Given the description of an element on the screen output the (x, y) to click on. 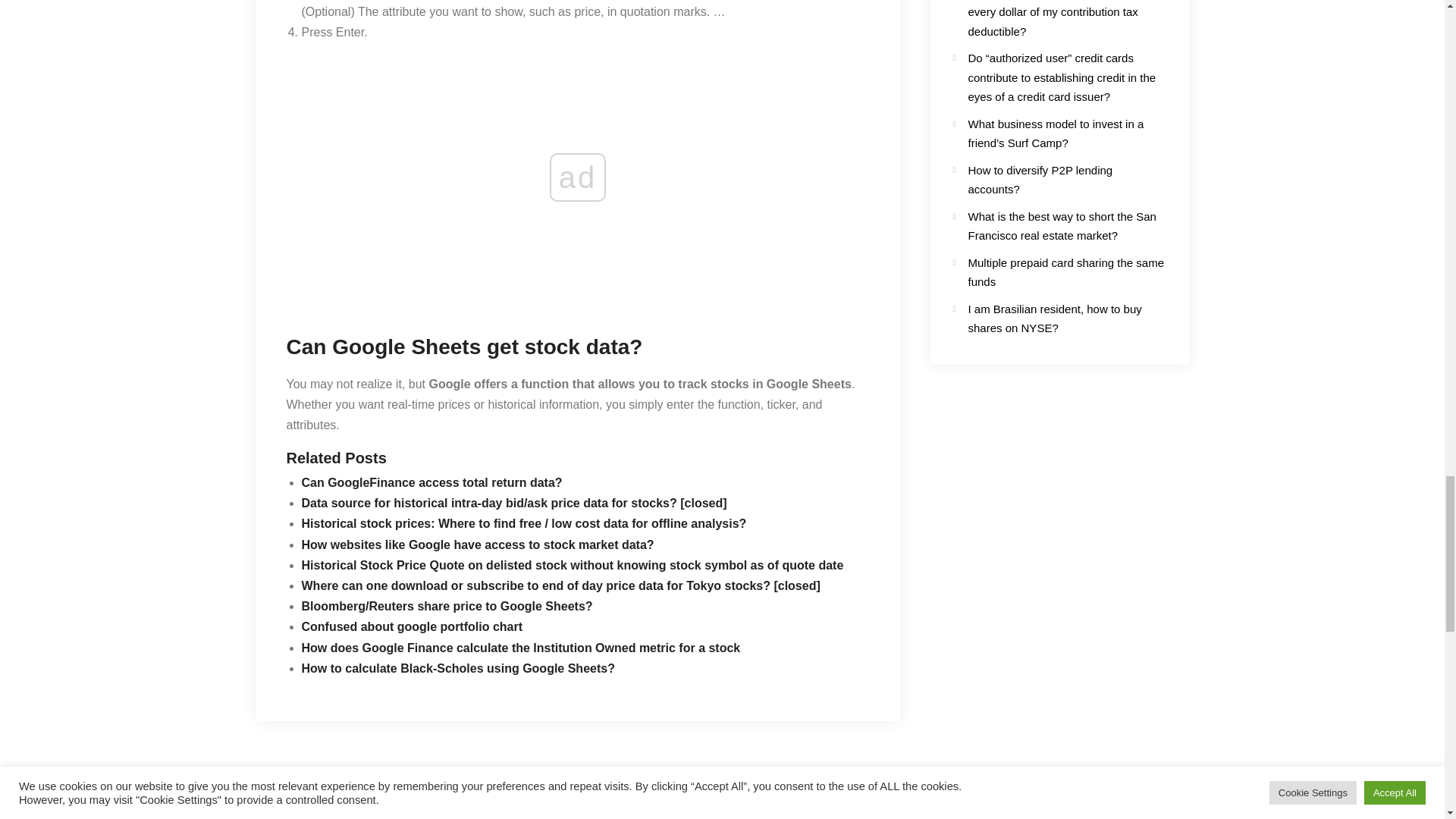
Confused about google portfolio chart (411, 626)
Can GoogleFinance access total return data? (431, 481)
How websites like Google have access to stock market data? (477, 544)
Can GoogleFinance access total return data? (431, 481)
How to calculate Black-Scholes using Google Sheets? (457, 667)
How websites like Google have access to stock market data? (477, 544)
